Given the description of an element on the screen output the (x, y) to click on. 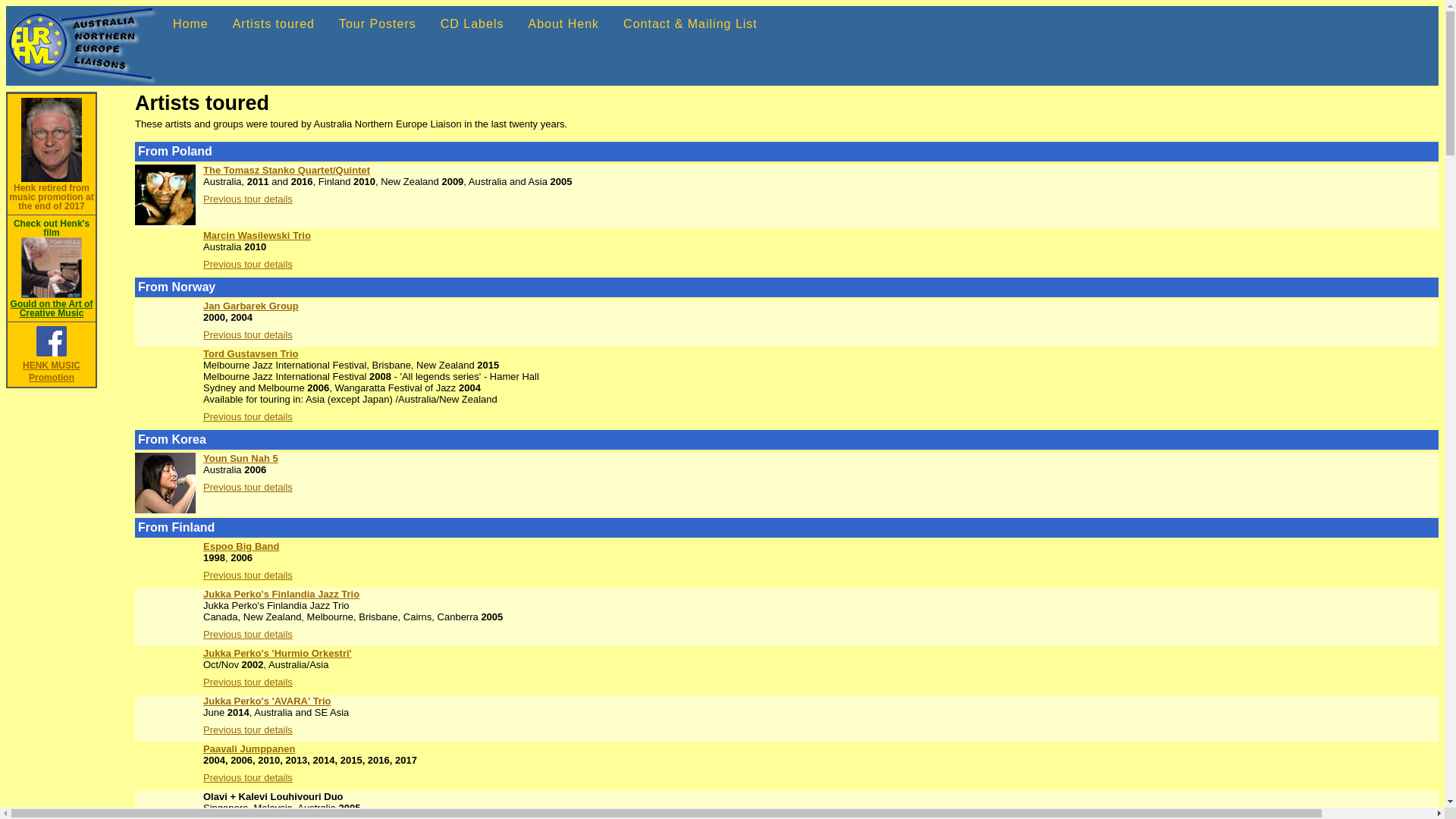
Home Element type: text (190, 24)
About Henk Element type: text (563, 24)
The Tomasz Stanko Quartet/Quintet Element type: text (286, 169)
Gould on the Art of Creative Music Element type: text (51, 303)
Tour Posters Element type: text (377, 24)
HENK MUSIC Promotion Element type: text (51, 365)
Previous tour details Element type: text (247, 574)
Espoo Big Band Element type: text (241, 546)
Paavali Jumppanen Element type: text (248, 748)
Jukka Perko's Finlandia Jazz Trio Element type: text (281, 593)
Youn Sun Nah 5 Element type: text (240, 458)
Previous tour details Element type: text (247, 486)
Previous tour details Element type: text (247, 334)
Previous tour details Element type: text (247, 729)
Jan Garbarek Group Element type: text (250, 305)
Marcin Wasilewski Trio Element type: text (256, 235)
Jukka Perko's 'AVARA' Trio Element type: text (266, 700)
Tord Gustavsen Trio Element type: text (250, 353)
Jukka Perko's 'Hurmio Orkestri' Element type: text (277, 652)
Previous tour details Element type: text (247, 416)
Previous tour details Element type: text (247, 263)
Previous tour details Element type: text (247, 777)
Previous tour details Element type: text (247, 198)
Previous tour details Element type: text (247, 634)
Contact & Mailing List Element type: text (690, 24)
CD Labels Element type: text (472, 24)
Previous tour details Element type: text (247, 681)
Artists toured Element type: text (273, 24)
